Given the description of an element on the screen output the (x, y) to click on. 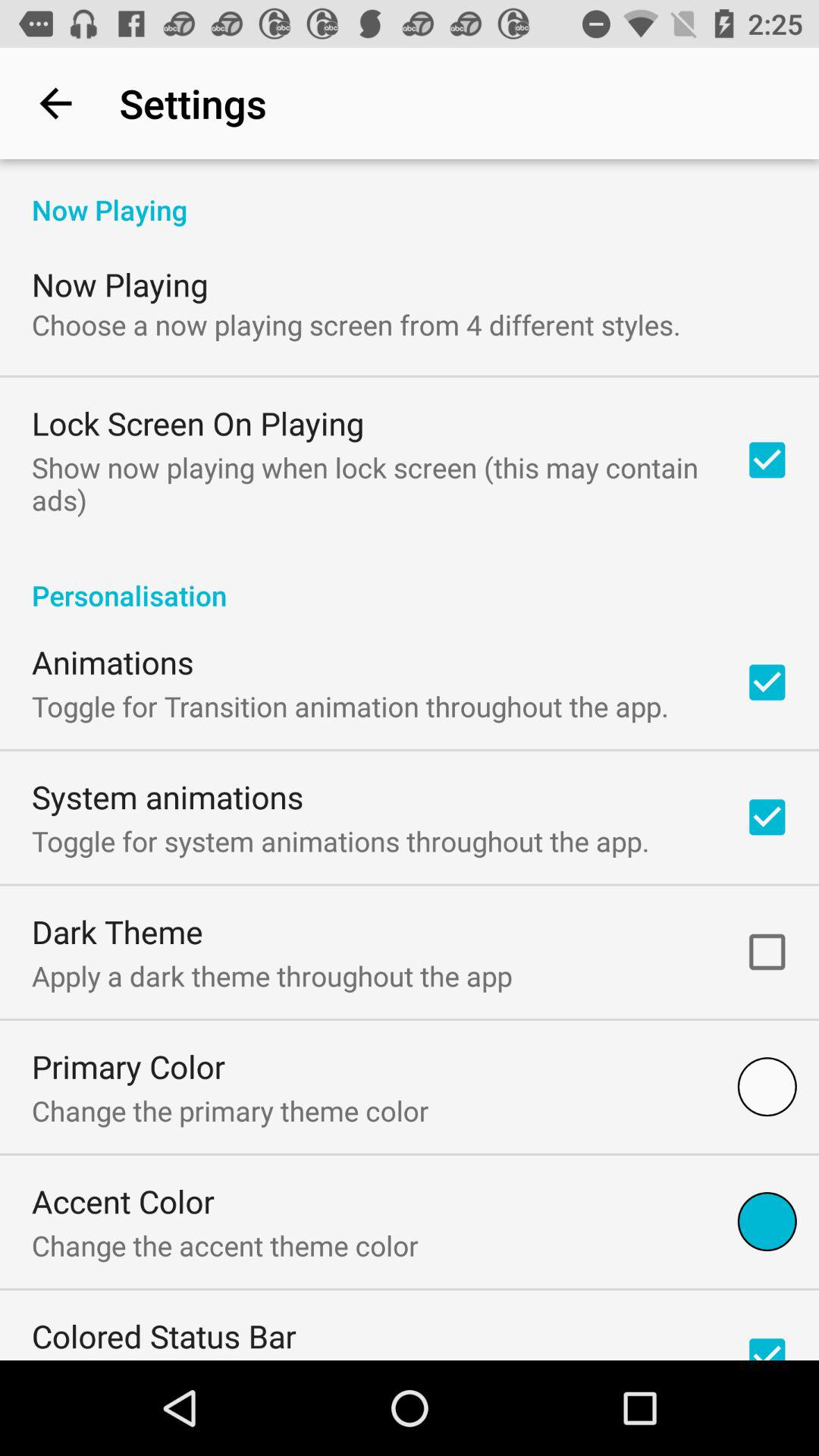
scroll to personalisation item (409, 579)
